Given the description of an element on the screen output the (x, y) to click on. 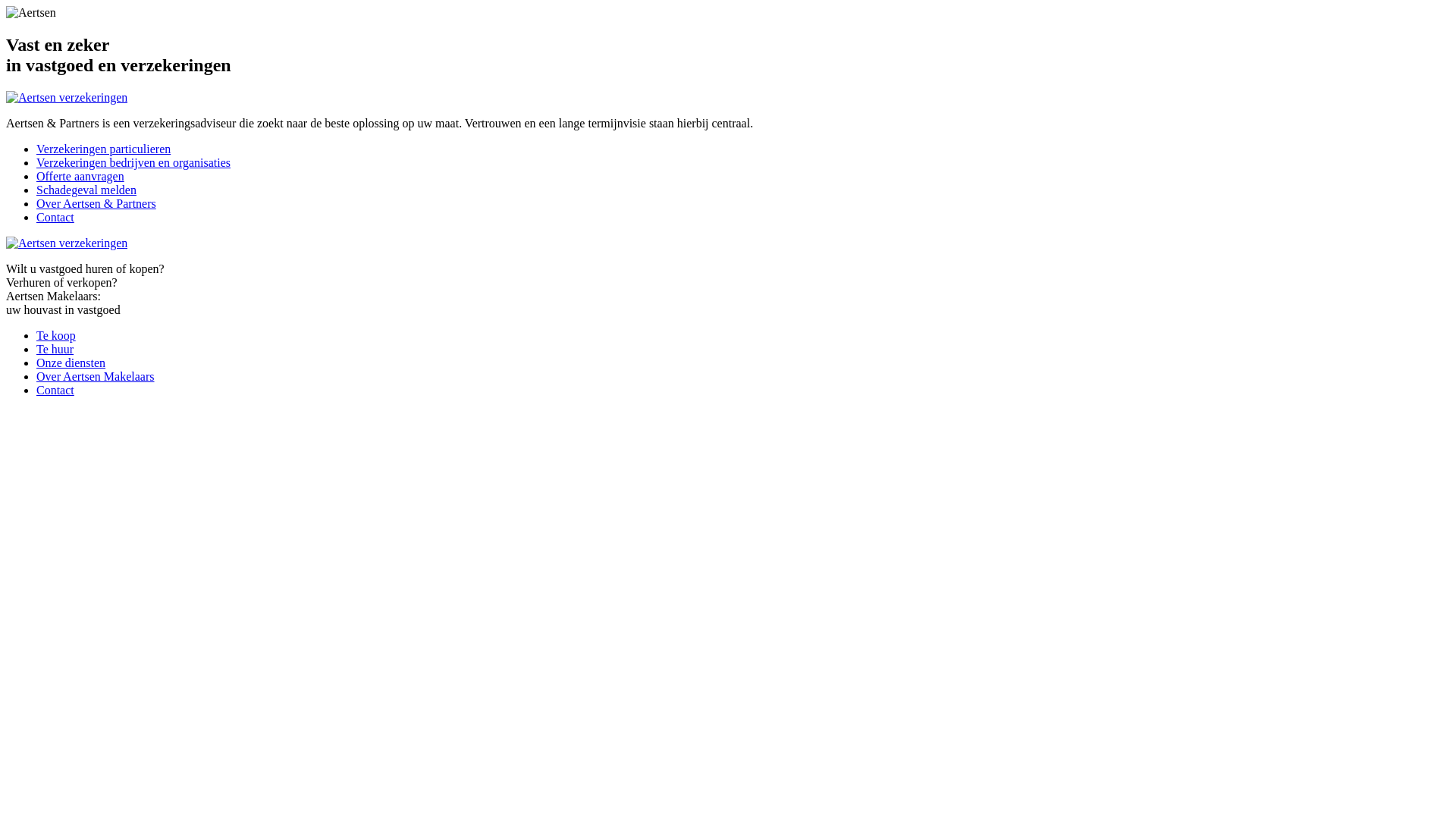
Offerte aanvragen Element type: text (80, 175)
Over Aertsen Makelaars Element type: text (95, 376)
Schadegeval melden Element type: text (86, 189)
Over Aertsen & Partners Element type: text (96, 203)
Contact Element type: text (55, 389)
Contact Element type: text (55, 216)
Onze diensten Element type: text (70, 362)
Verzekeringen bedrijven en organisaties Element type: text (133, 162)
Te koop Element type: text (55, 335)
Verzekeringen particulieren Element type: text (103, 148)
Te huur Element type: text (54, 348)
